Given the description of an element on the screen output the (x, y) to click on. 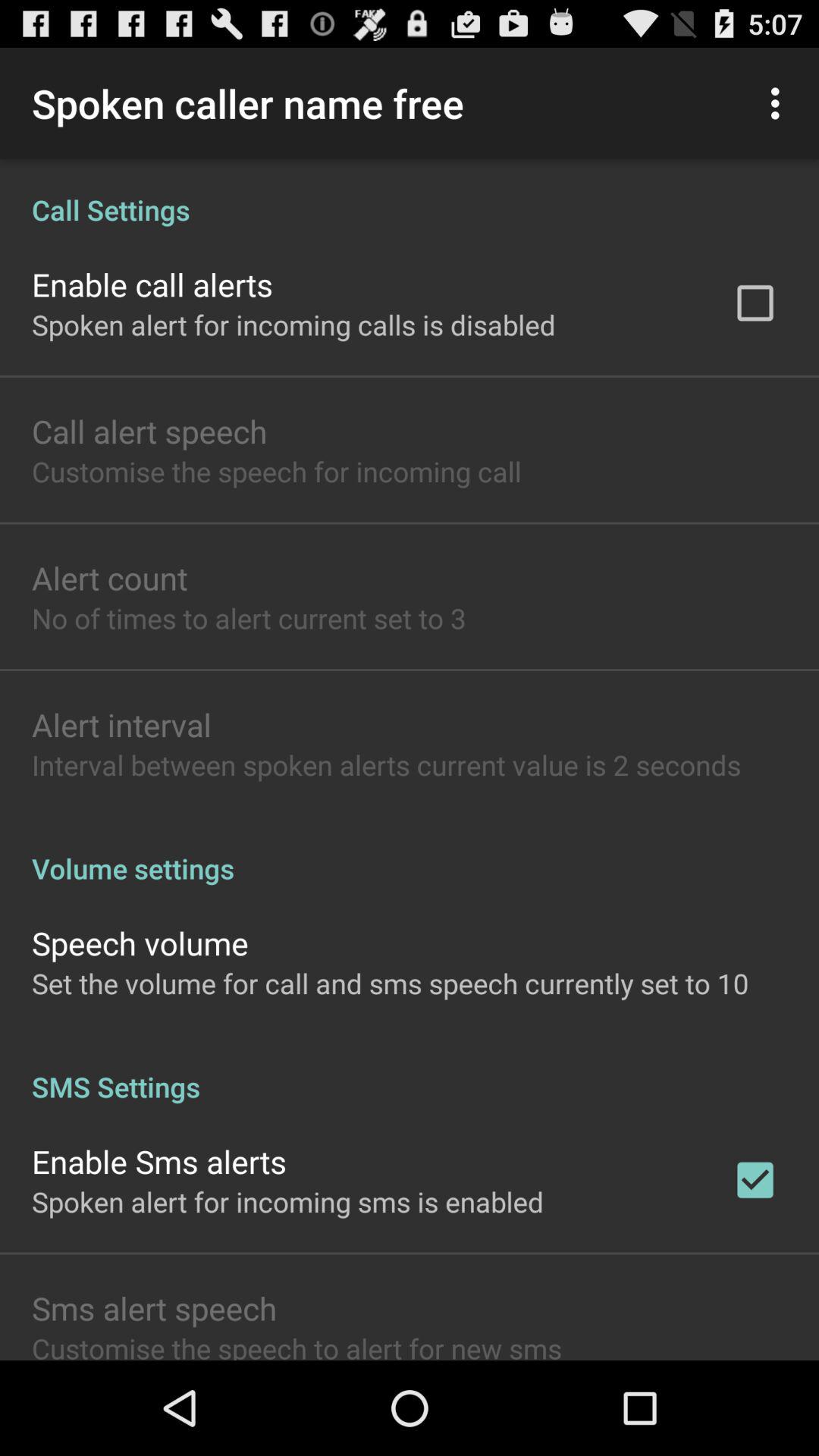
select volume settings (409, 852)
